Given the description of an element on the screen output the (x, y) to click on. 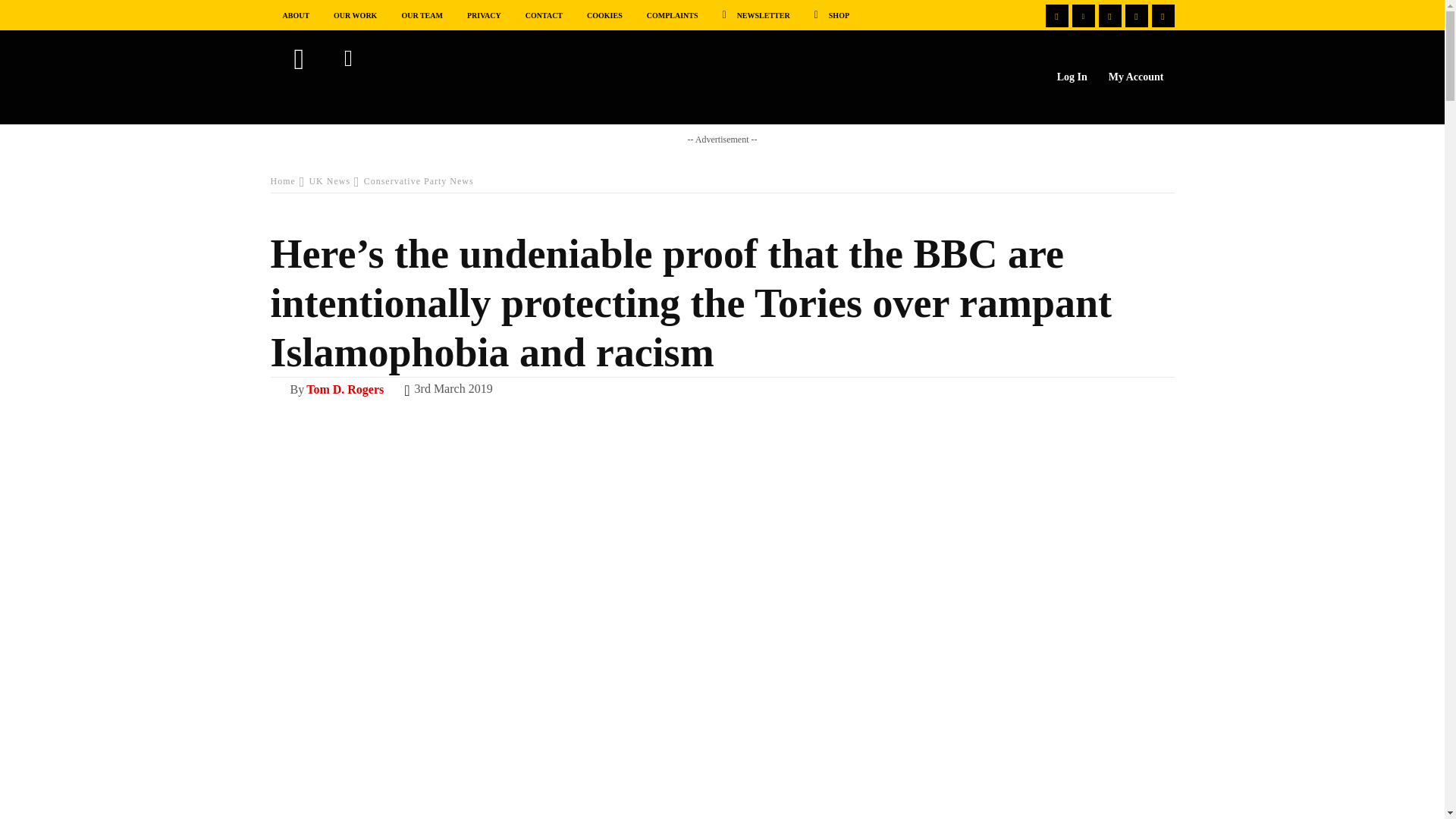
ABOUT (295, 14)
Instagram (1136, 15)
Tiktok (1162, 15)
Twitter (1082, 15)
Youtube (1109, 15)
View all posts in UK News (329, 181)
Facebook (1056, 15)
View all posts in Conservative Party News (419, 181)
